Given the description of an element on the screen output the (x, y) to click on. 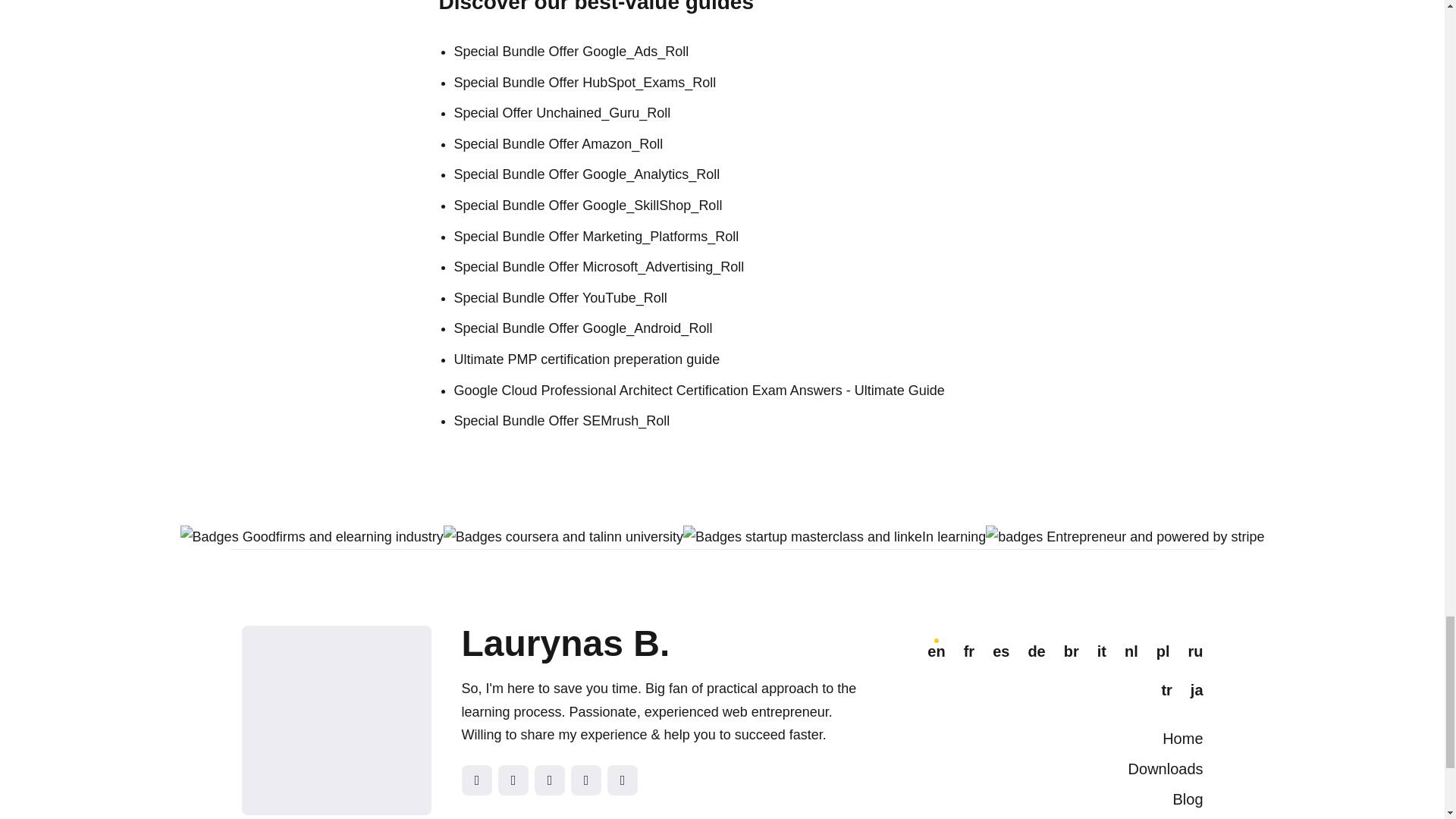
Downloads (1166, 768)
Home (1181, 738)
Ultimate PMP certification preperation guide (585, 359)
